Given the description of an element on the screen output the (x, y) to click on. 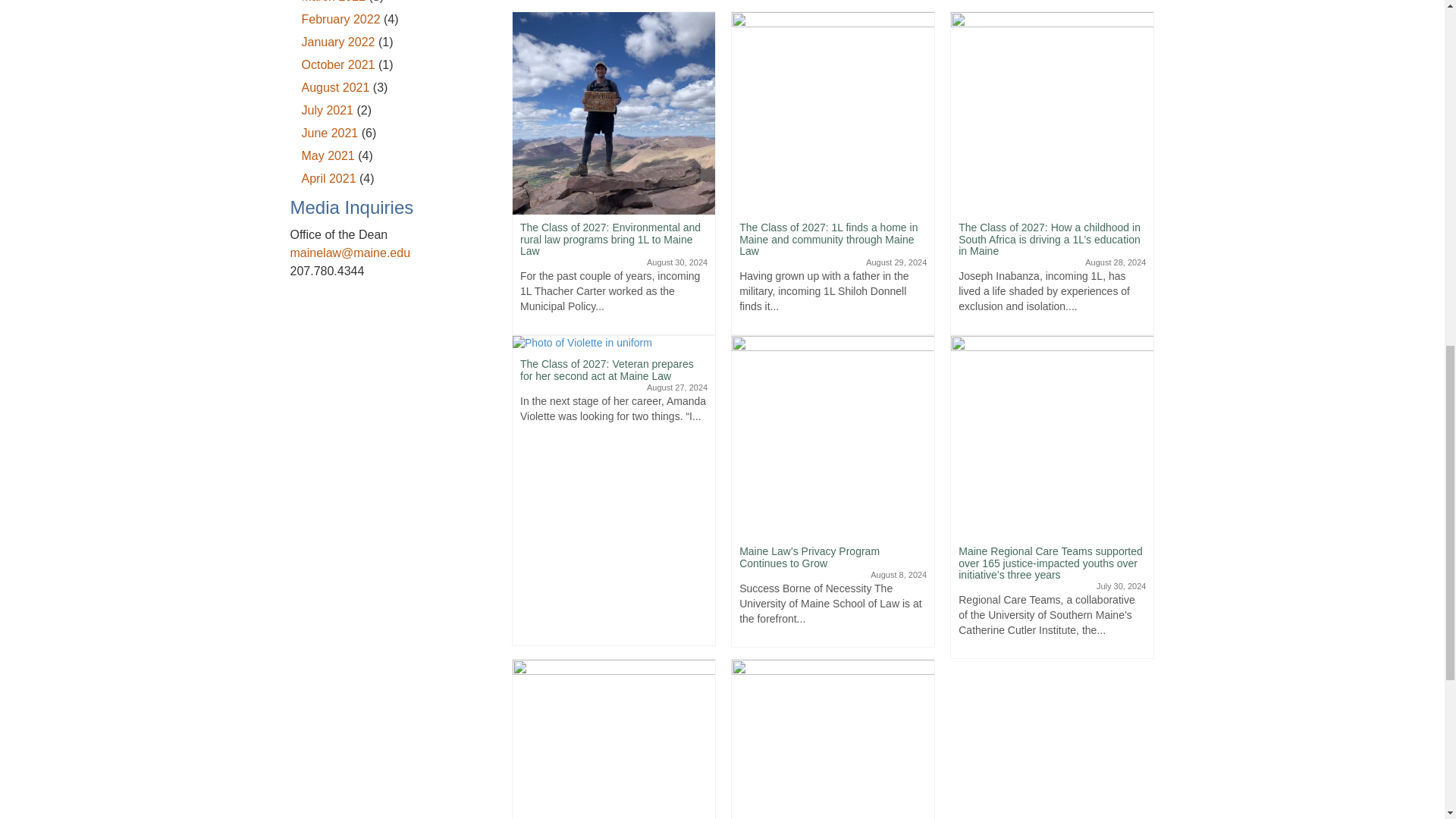
Friends and Defenders of the Casco Bay (833, 759)
Maine Law faculty and staff share favorite summer reads (613, 759)
